Given the description of an element on the screen output the (x, y) to click on. 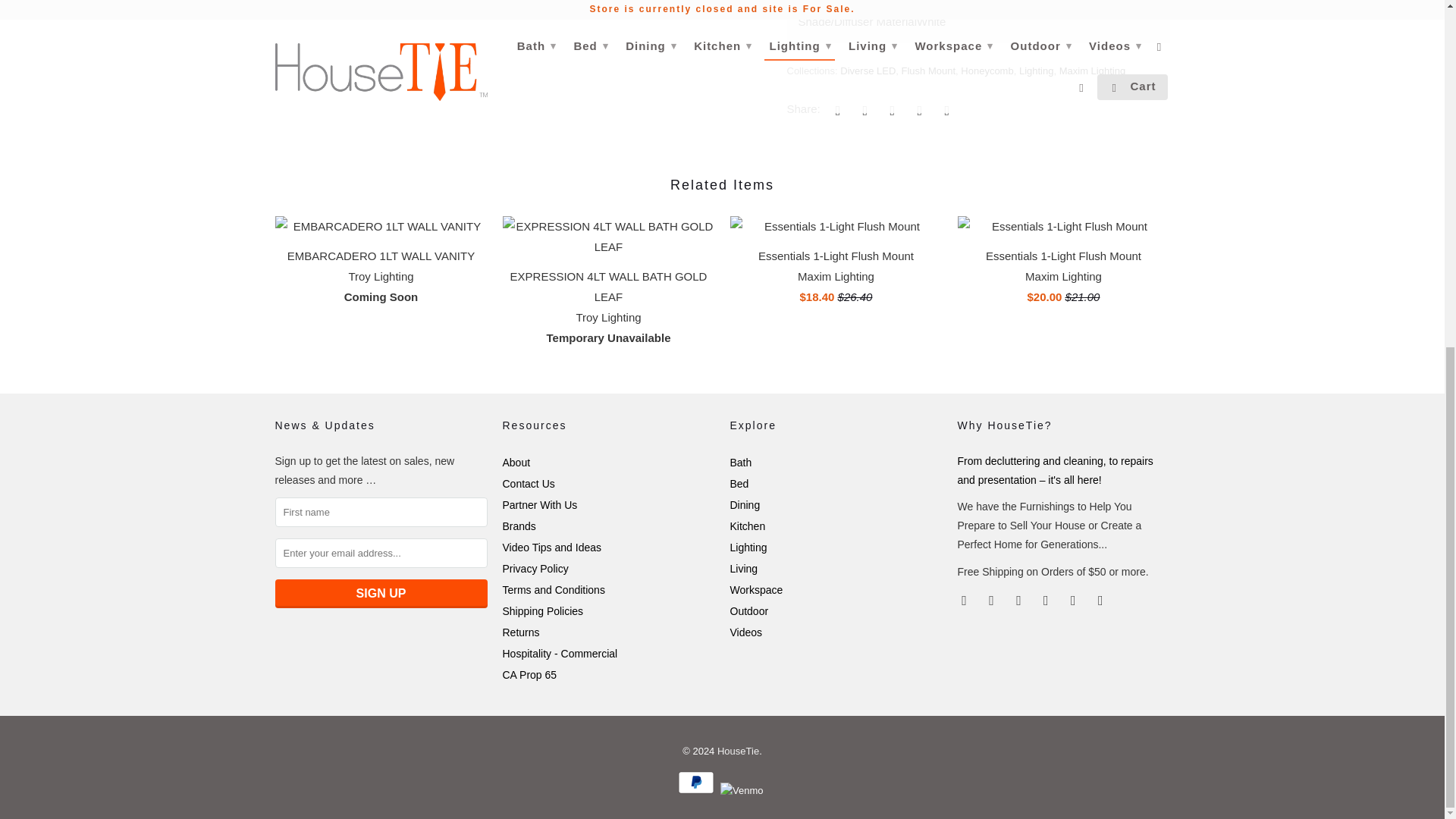
Flush Mount (928, 70)
Partner With Us (539, 504)
Sign Up (380, 593)
Lighting (1036, 70)
Contact Us (528, 483)
Share this on Twitter (835, 109)
About (515, 462)
Maxim Lighting (1092, 70)
Share this on Pinterest (889, 109)
Diverse LED (867, 70)
